Given the description of an element on the screen output the (x, y) to click on. 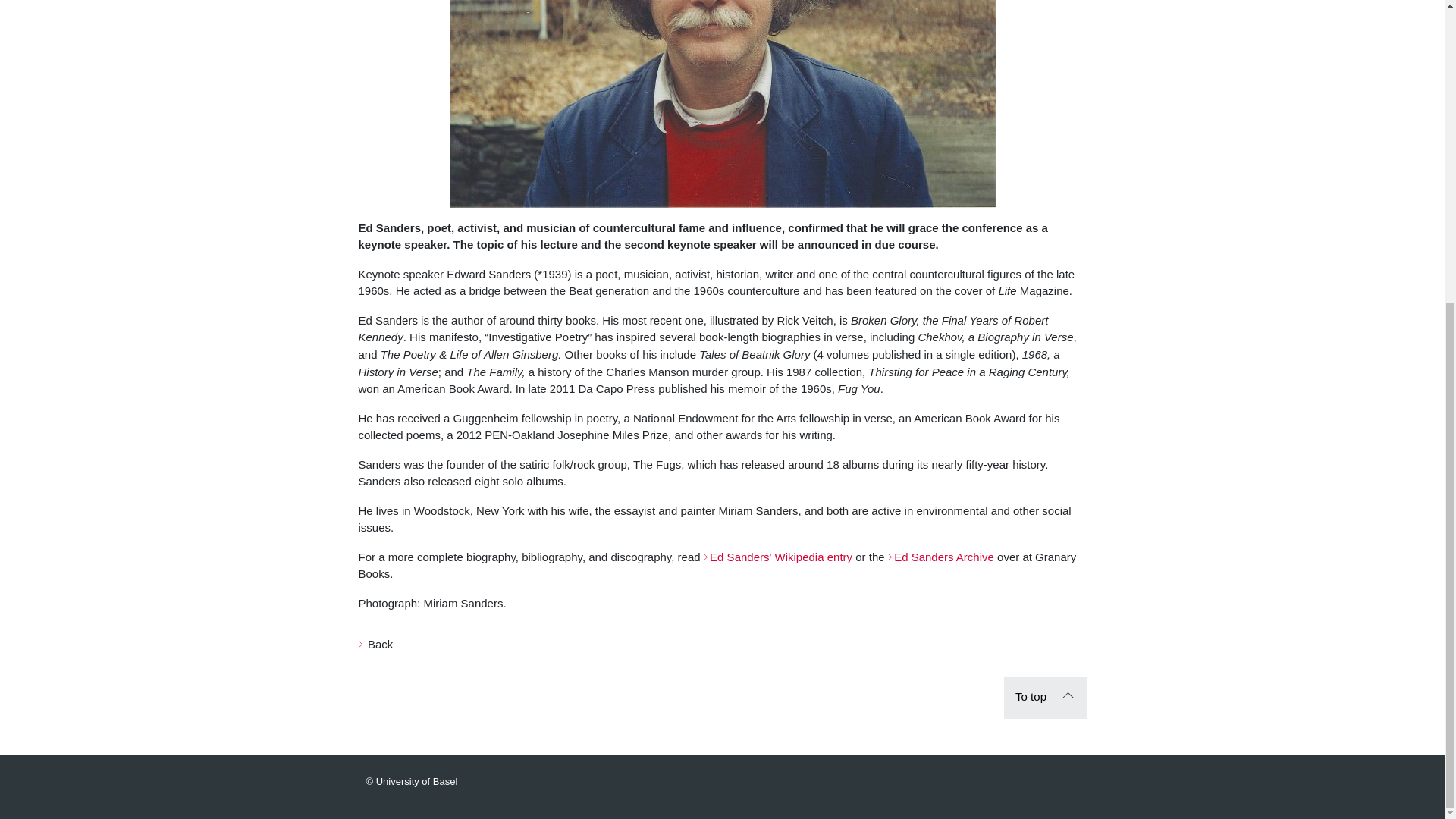
Ed Sanders Archive (941, 556)
Opens internal link in current window (941, 556)
University of Basel (411, 781)
Back (375, 644)
To top (1045, 698)
Ed Sanders' Wikipedia entry (777, 556)
To top (1045, 698)
Opens internal link in current window (777, 556)
